Given the description of an element on the screen output the (x, y) to click on. 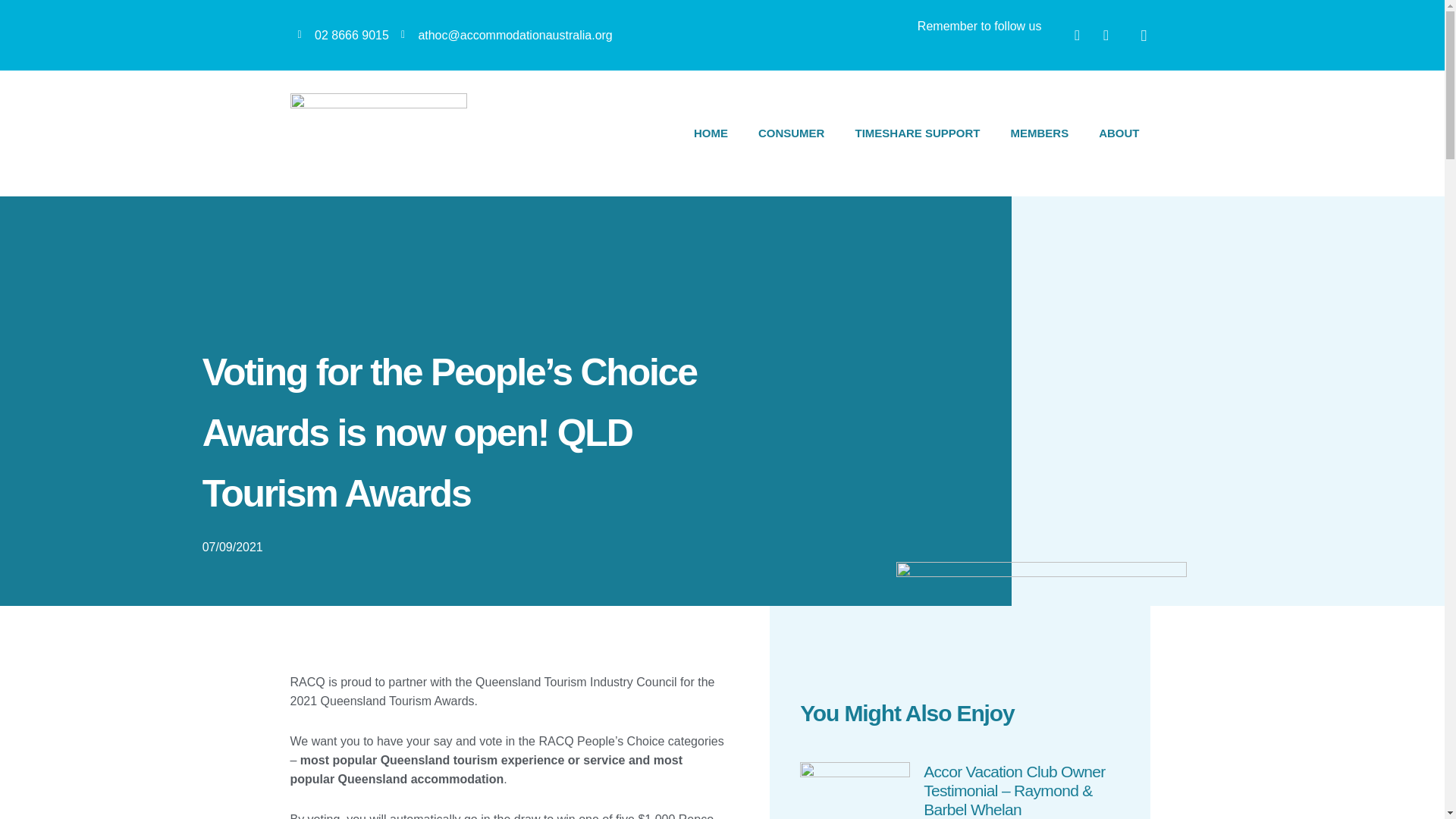
Linkedin (1106, 34)
MEMBERS (1038, 133)
02 8666 9015 (342, 35)
Facebook (1077, 34)
CONSUMER (791, 133)
ABOUT (1118, 133)
HOME (710, 133)
TIMESHARE SUPPORT (917, 133)
